Given the description of an element on the screen output the (x, y) to click on. 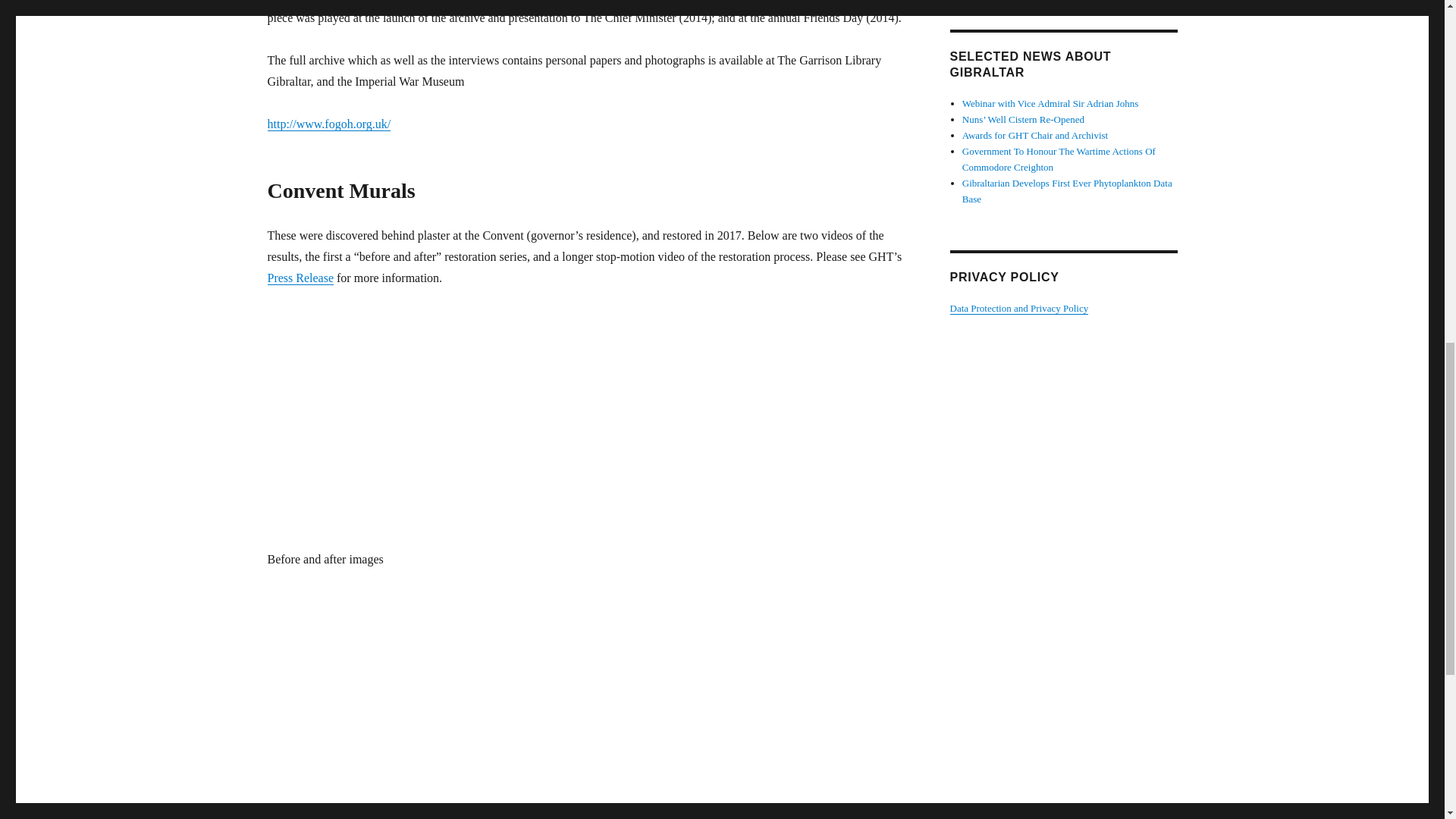
Press Release (299, 277)
Data Protection and Privacy Policy (1018, 307)
Data Protection and Privacy Policy (1018, 307)
Awards for GHT Chair and Archivist (1035, 134)
Webinar with Vice Admiral Sir Adrian Johns (1050, 102)
Gibraltarian Develops First Ever Phytoplankton Data Base (1067, 190)
